Given the description of an element on the screen output the (x, y) to click on. 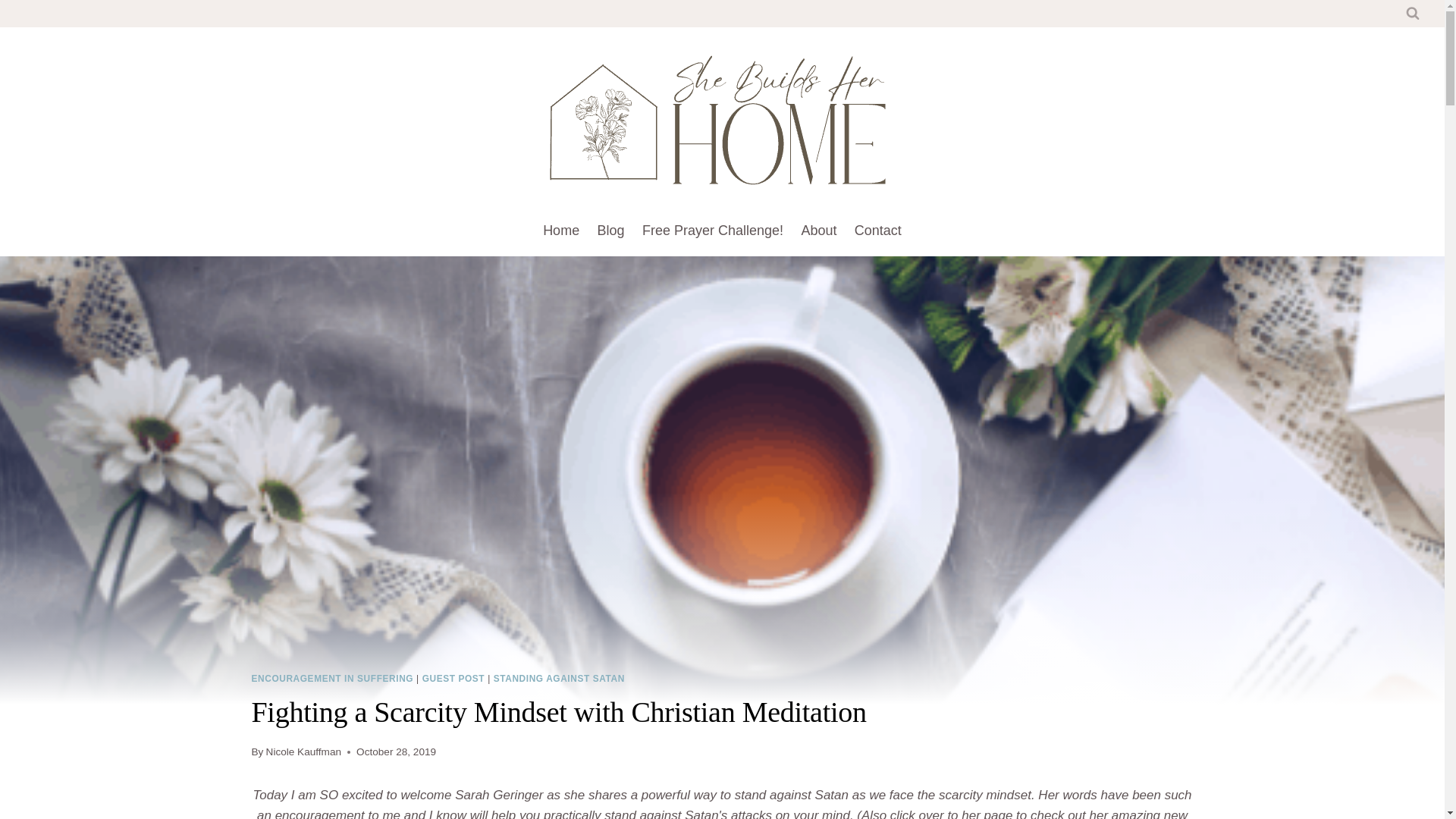
Nicole Kauffman (304, 751)
About (818, 230)
ENCOURAGEMENT IN SUFFERING (332, 678)
Home (561, 230)
Contact (877, 230)
GUEST POST (453, 678)
Blog (610, 230)
Free Prayer Challenge! (712, 230)
STANDING AGAINST SATAN (558, 678)
